Given the description of an element on the screen output the (x, y) to click on. 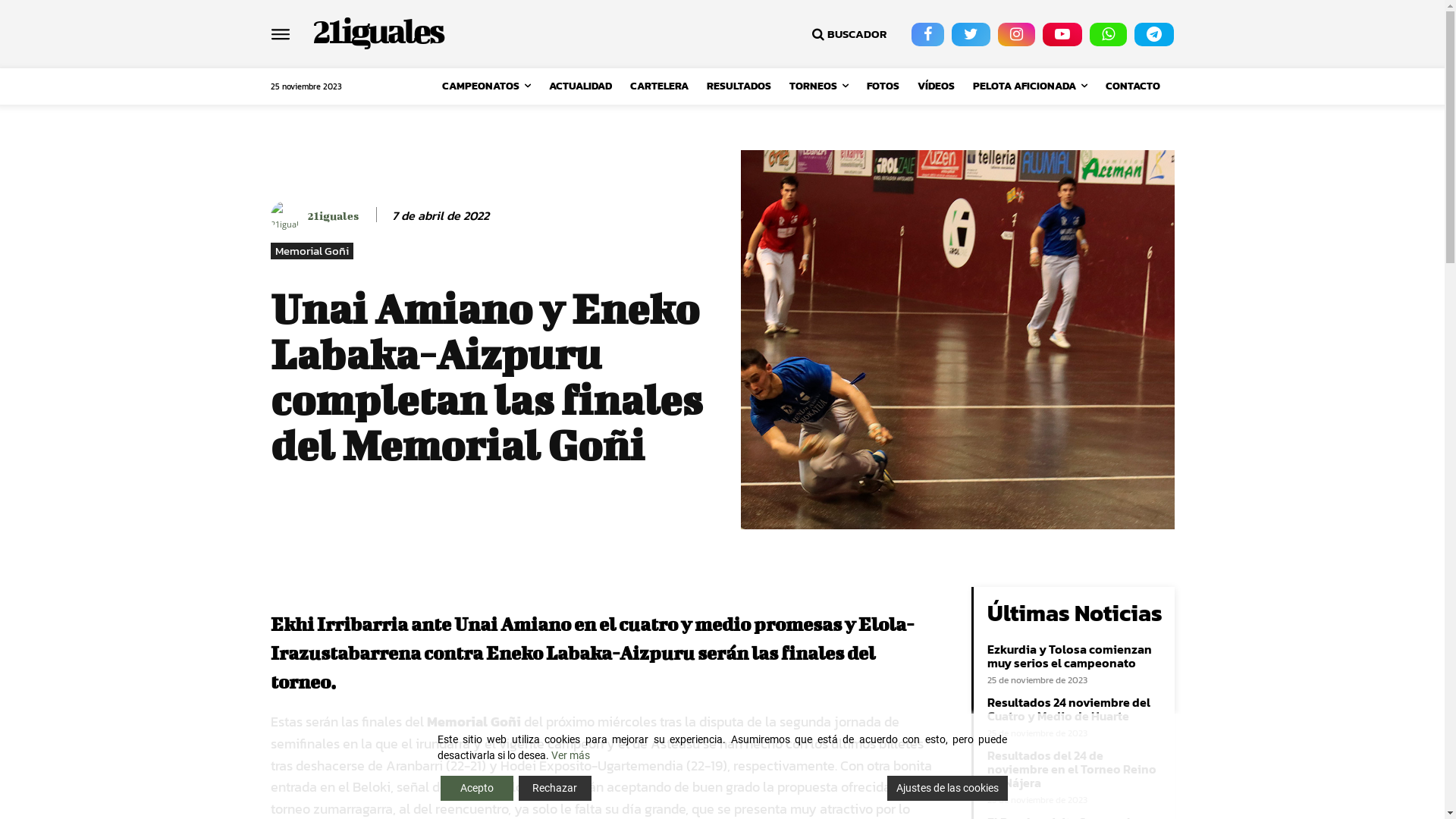
FOTOS Element type: text (882, 86)
ACTUALIDAD Element type: text (580, 86)
Ezkurdia y Tolosa comienzan muy serios el campeonato Element type: text (1069, 655)
TORNEOS Element type: text (818, 86)
Resultados 24 noviembre del Cuatro y Medio de Huarte Element type: text (1068, 708)
CAMPEONATOS Element type: text (486, 86)
CONTACTO Element type: text (1132, 86)
RESULTADOS Element type: text (738, 86)
21iguales Element type: hover (286, 215)
BUSCADOR Element type: text (847, 34)
21iguales Element type: text (332, 215)
CARTELERA Element type: text (659, 86)
Ajustes de las cookies Element type: text (947, 787)
PELOTA AFICIONADA Element type: text (1029, 86)
21iguales Element type: text (377, 30)
Rechazar Element type: text (554, 787)
Acepto Element type: text (475, 787)
